Given the description of an element on the screen output the (x, y) to click on. 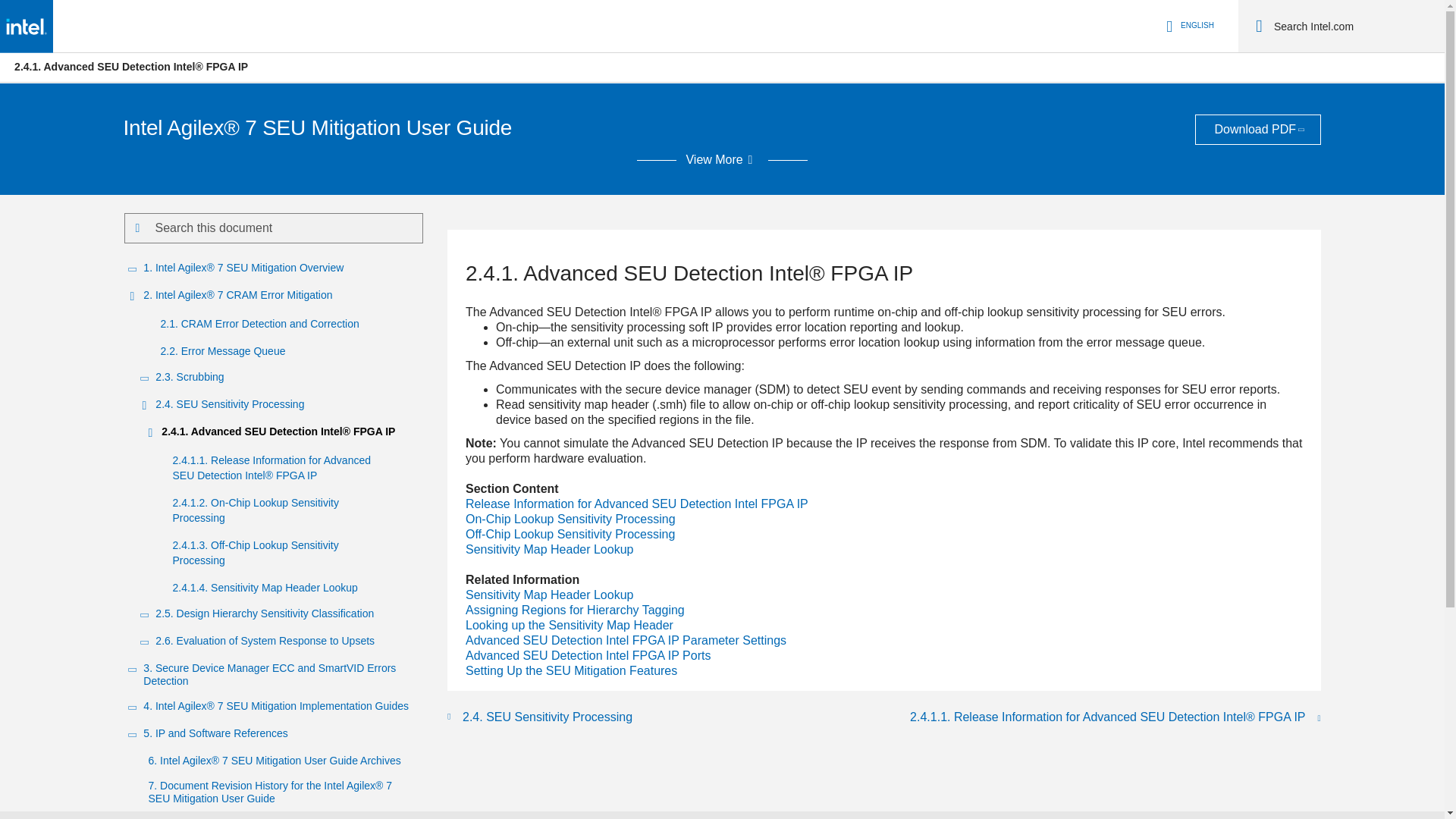
Search (1259, 26)
ENGLISH (1187, 26)
Language Selector (1187, 26)
